Given the description of an element on the screen output the (x, y) to click on. 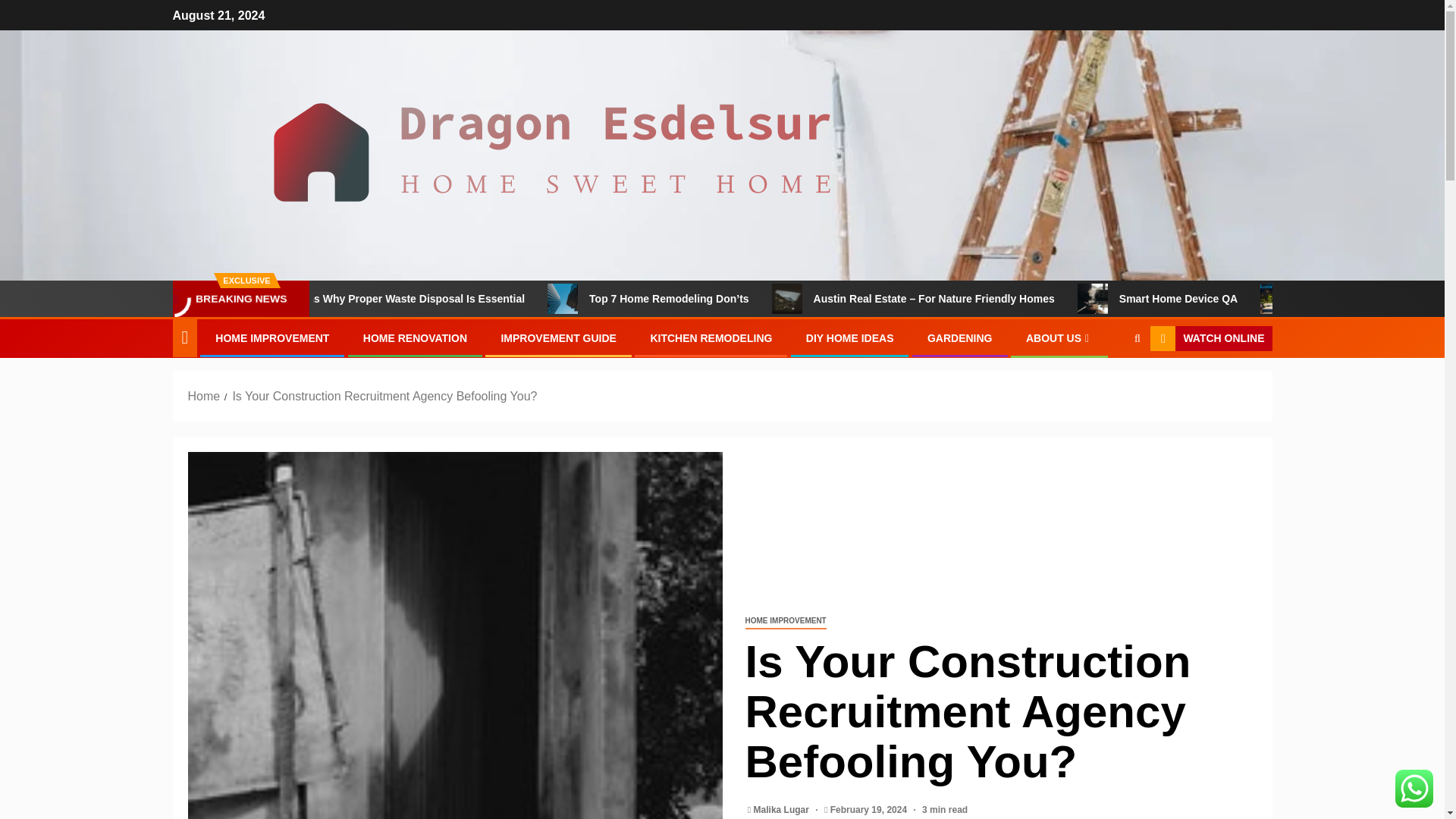
WATCH ONLINE (1210, 338)
HOME IMPROVEMENT (272, 337)
Smart Home Device QA (1253, 298)
Home (204, 395)
Smart Home Device QA (1152, 298)
DIY HOME IDEAS (849, 337)
Search (1107, 385)
KITCHEN REMODELING (710, 337)
Malika Lugar (783, 809)
